Given the description of an element on the screen output the (x, y) to click on. 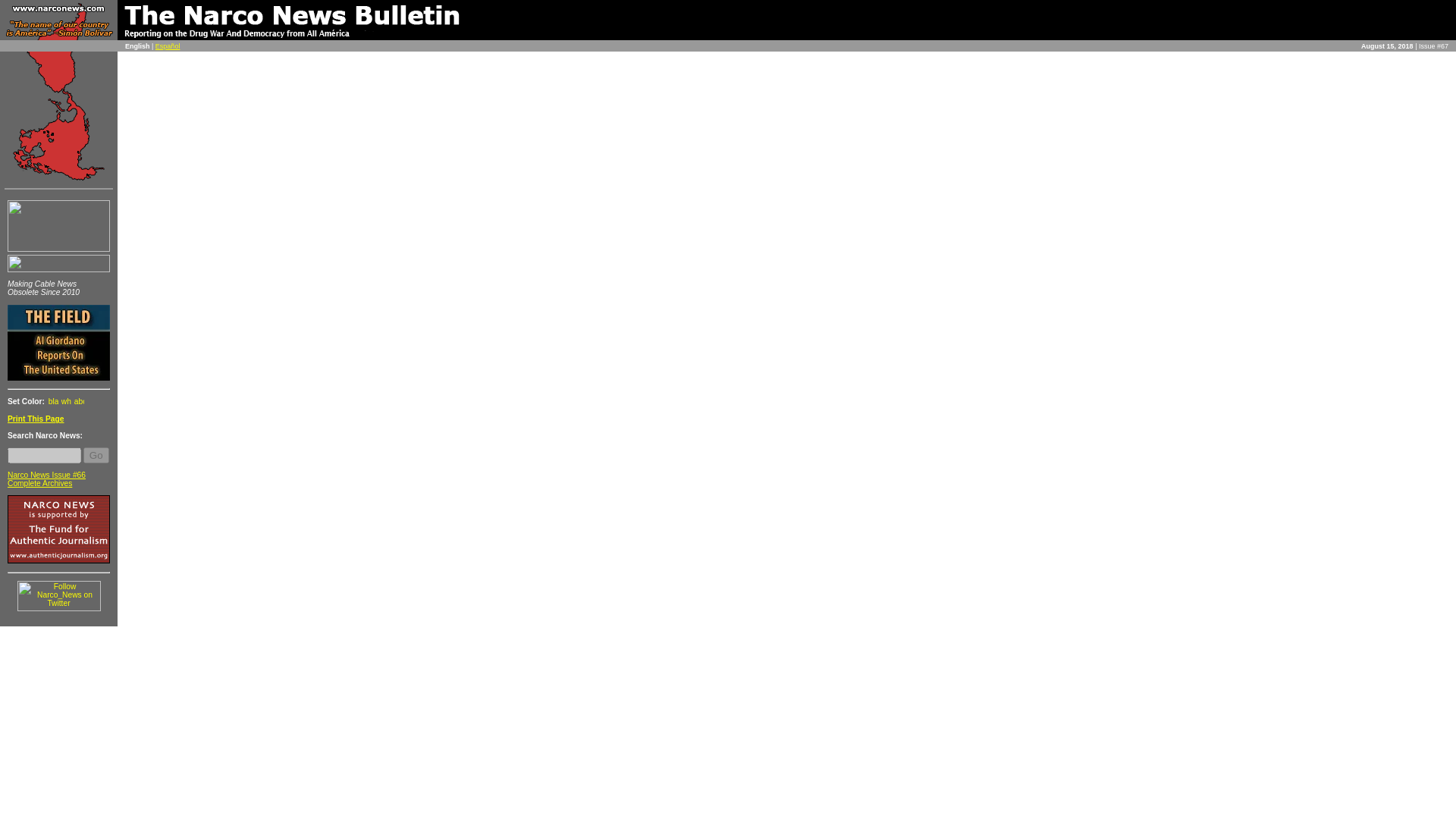
Go (95, 455)
Complete Archives (39, 483)
Print This Page (35, 418)
Go (95, 455)
